Given the description of an element on the screen output the (x, y) to click on. 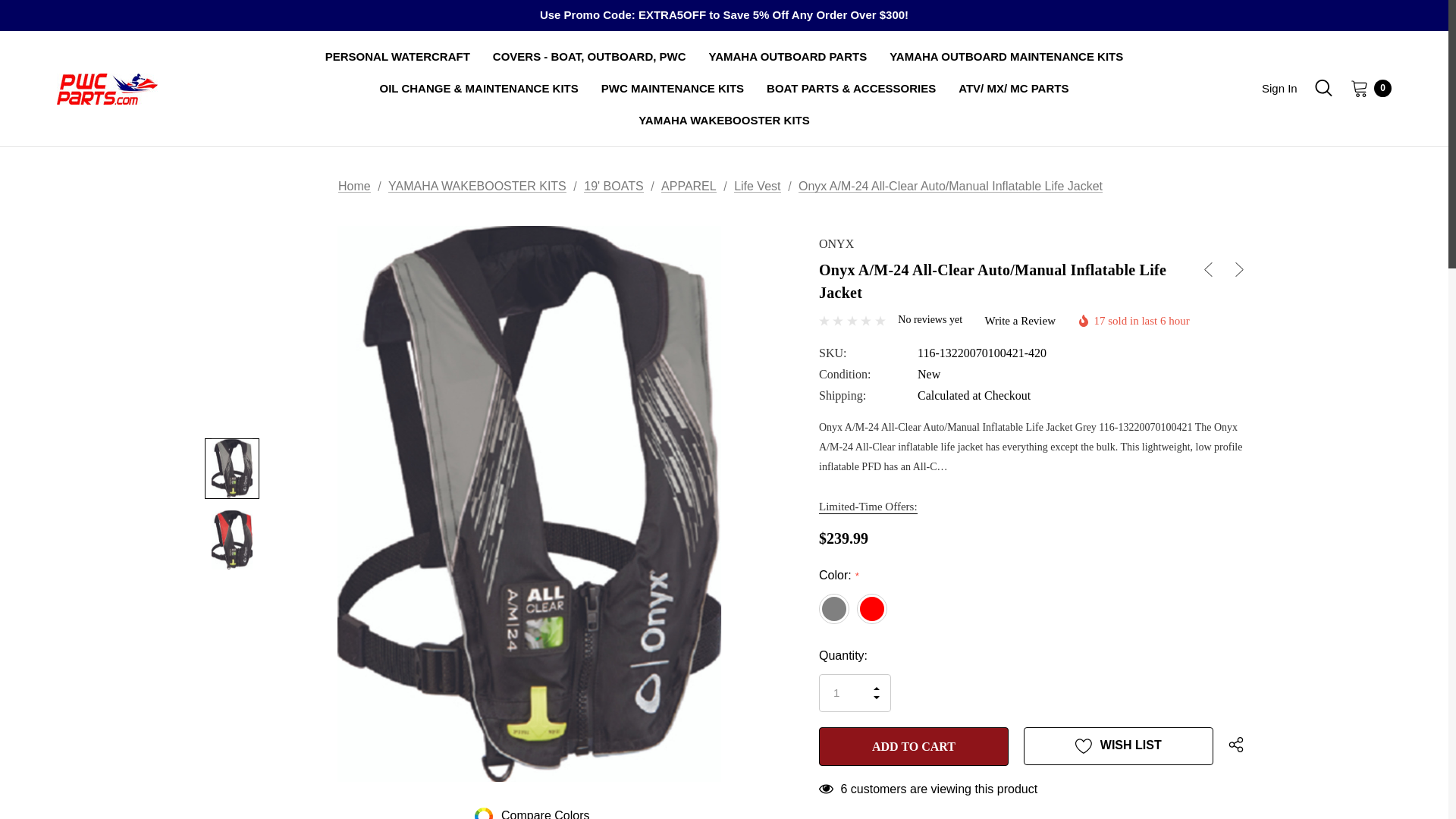
1 (854, 692)
PWCParts.com (106, 88)
PERSONAL WATERCRAFT (397, 56)
Add to Cart (913, 746)
Red (871, 608)
Grey (833, 608)
